Given the description of an element on the screen output the (x, y) to click on. 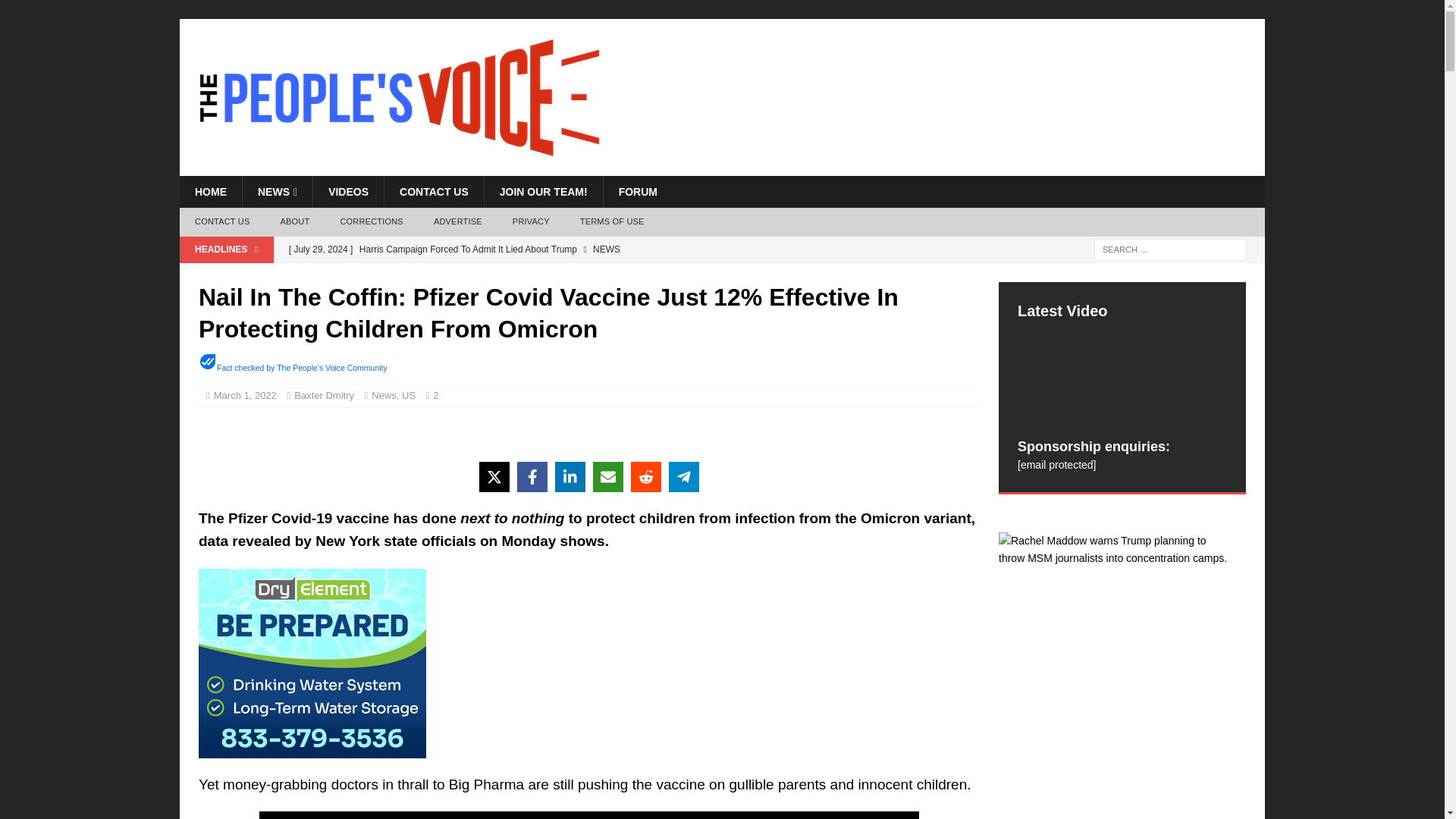
FORUM (637, 192)
Trump: CBDCs Are A Threat To Liberty (583, 275)
JOIN OUR TEAM! (542, 192)
News (383, 395)
CONTACT US (433, 192)
Baxter Dmitry (323, 395)
CONTACT US (221, 222)
March 1, 2022 (245, 395)
2 (439, 395)
VIDEOS (348, 192)
TERMS OF USE (611, 222)
US (407, 395)
HOME (210, 192)
CORRECTIONS (370, 222)
ABOUT (294, 222)
